Given the description of an element on the screen output the (x, y) to click on. 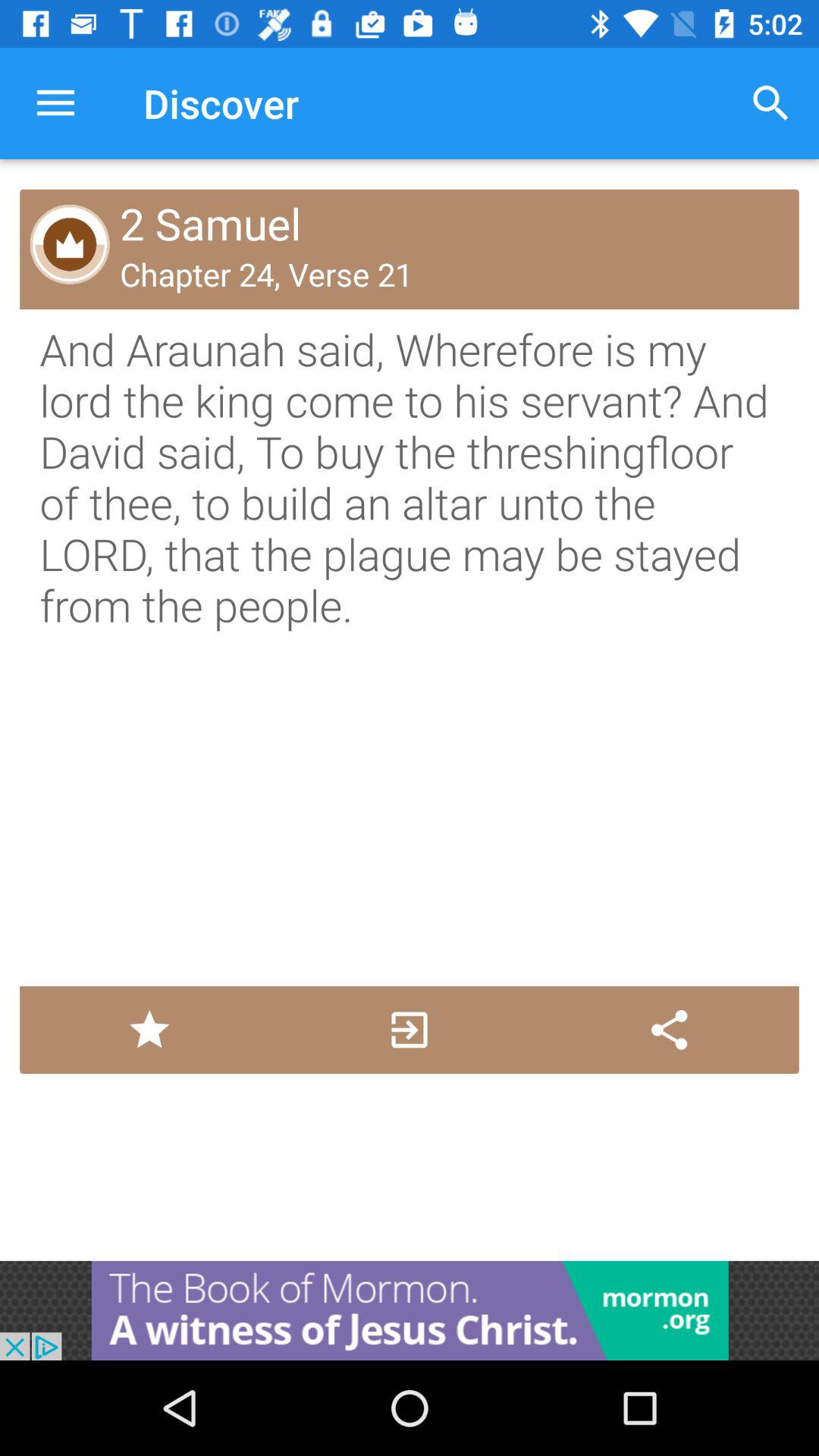
favorite (149, 1029)
